Given the description of an element on the screen output the (x, y) to click on. 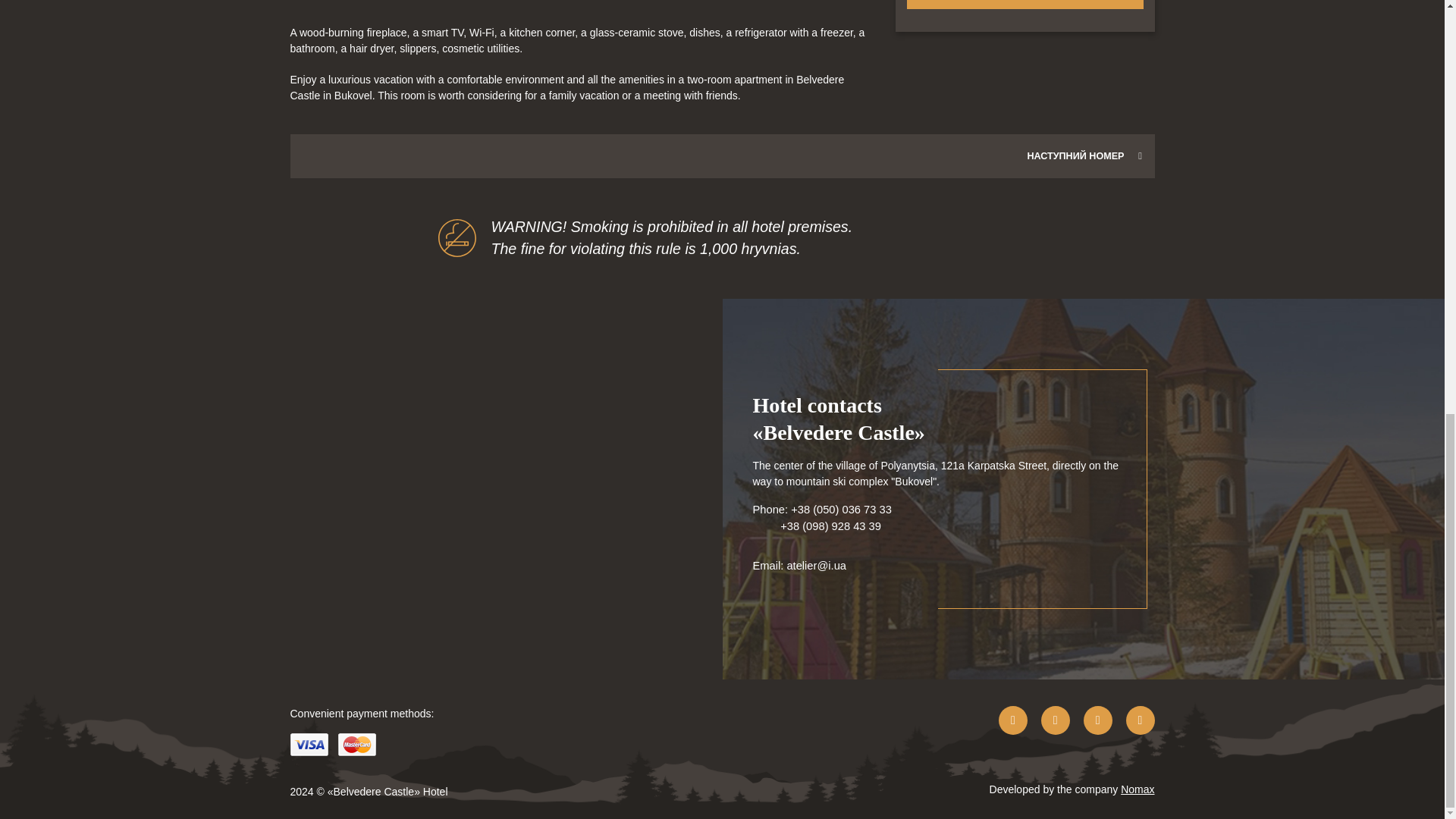
BOOK A ROOM (1024, 4)
facebook (1012, 719)
instagram (1055, 719)
youtube (1097, 719)
telegram (1139, 719)
Developed by the company Nomax (1072, 791)
